Given the description of an element on the screen output the (x, y) to click on. 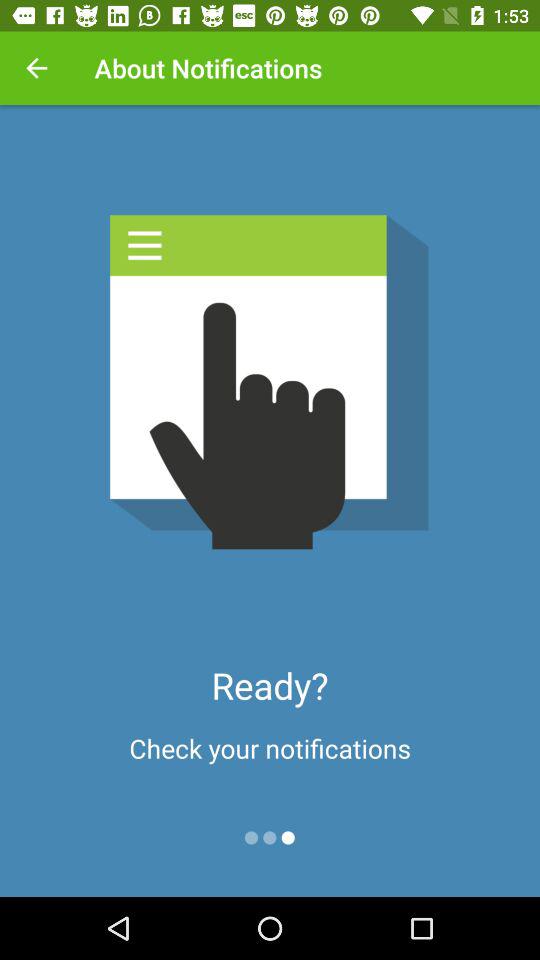
turn off the icon to the left of the about notifications item (36, 68)
